Given the description of an element on the screen output the (x, y) to click on. 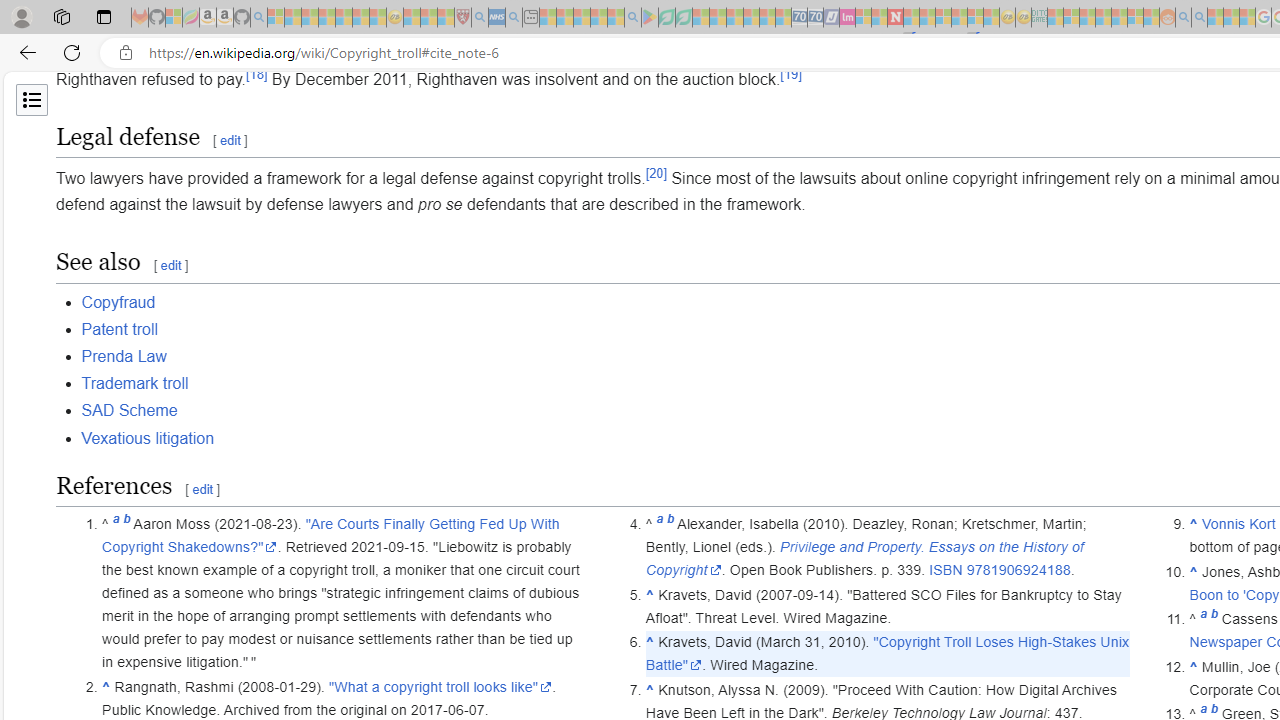
[20] (655, 172)
Copyfraud (118, 302)
9781906924188 (1018, 570)
Bluey: Let's Play! - Apps on Google Play - Sleeping (649, 17)
"What a copyright troll looks like" (440, 686)
ISBN (945, 570)
"Copyright Troll Loses High-Stakes Unix Battle" (887, 653)
Vexatious litigation (147, 438)
